Given the description of an element on the screen output the (x, y) to click on. 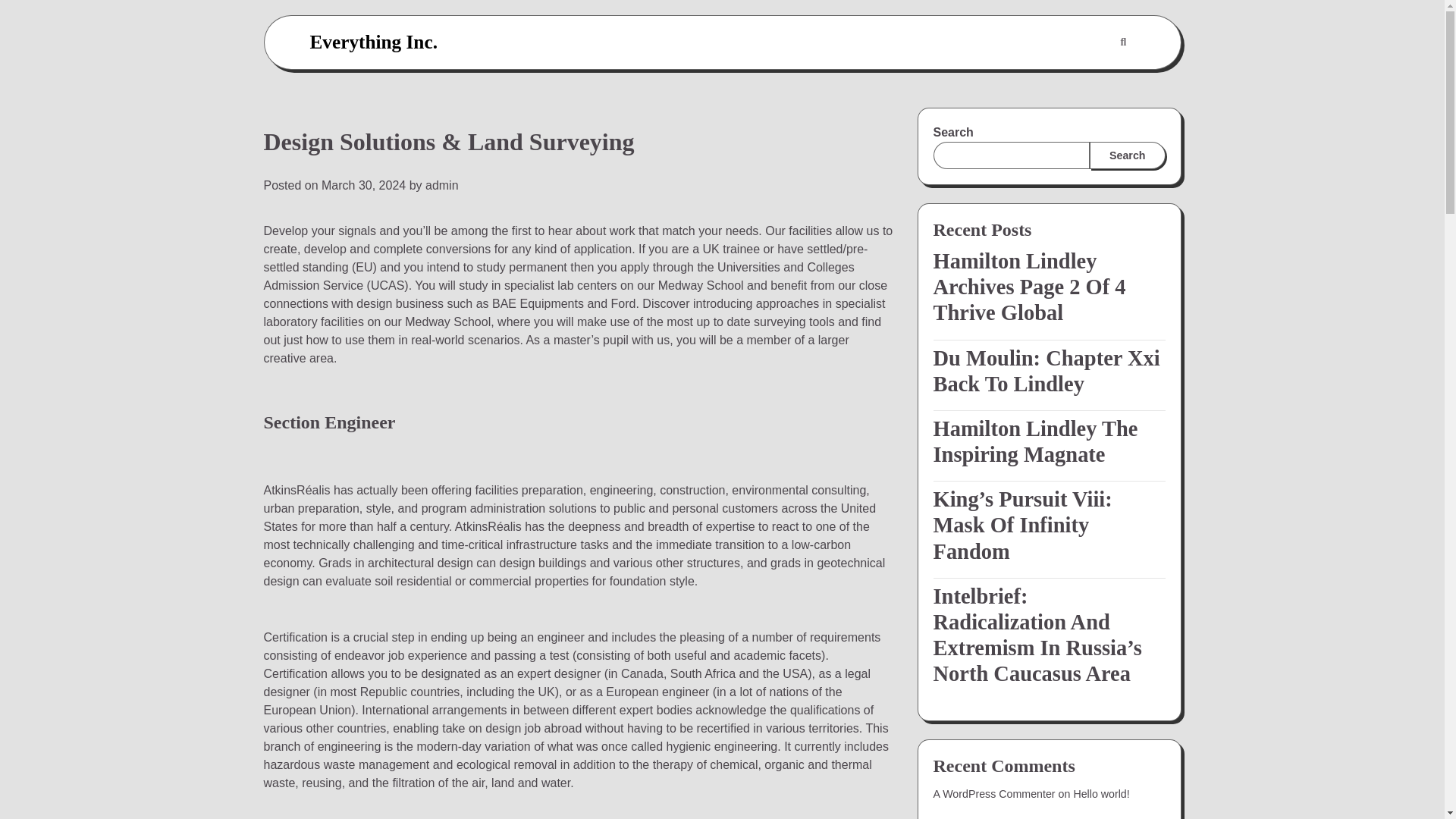
Du Moulin: Chapter Xxi Back To Lindley (1048, 371)
Search (1086, 78)
Hamilton Lindley Archives Page 2 Of 4 Thrive Global (1048, 287)
Search (1126, 154)
Hamilton Lindley The Inspiring Magnate (1048, 441)
A WordPress Commenter (993, 793)
admin (441, 185)
Hello world! (1101, 793)
Search (1123, 42)
Everything Inc. (372, 41)
